Given the description of an element on the screen output the (x, y) to click on. 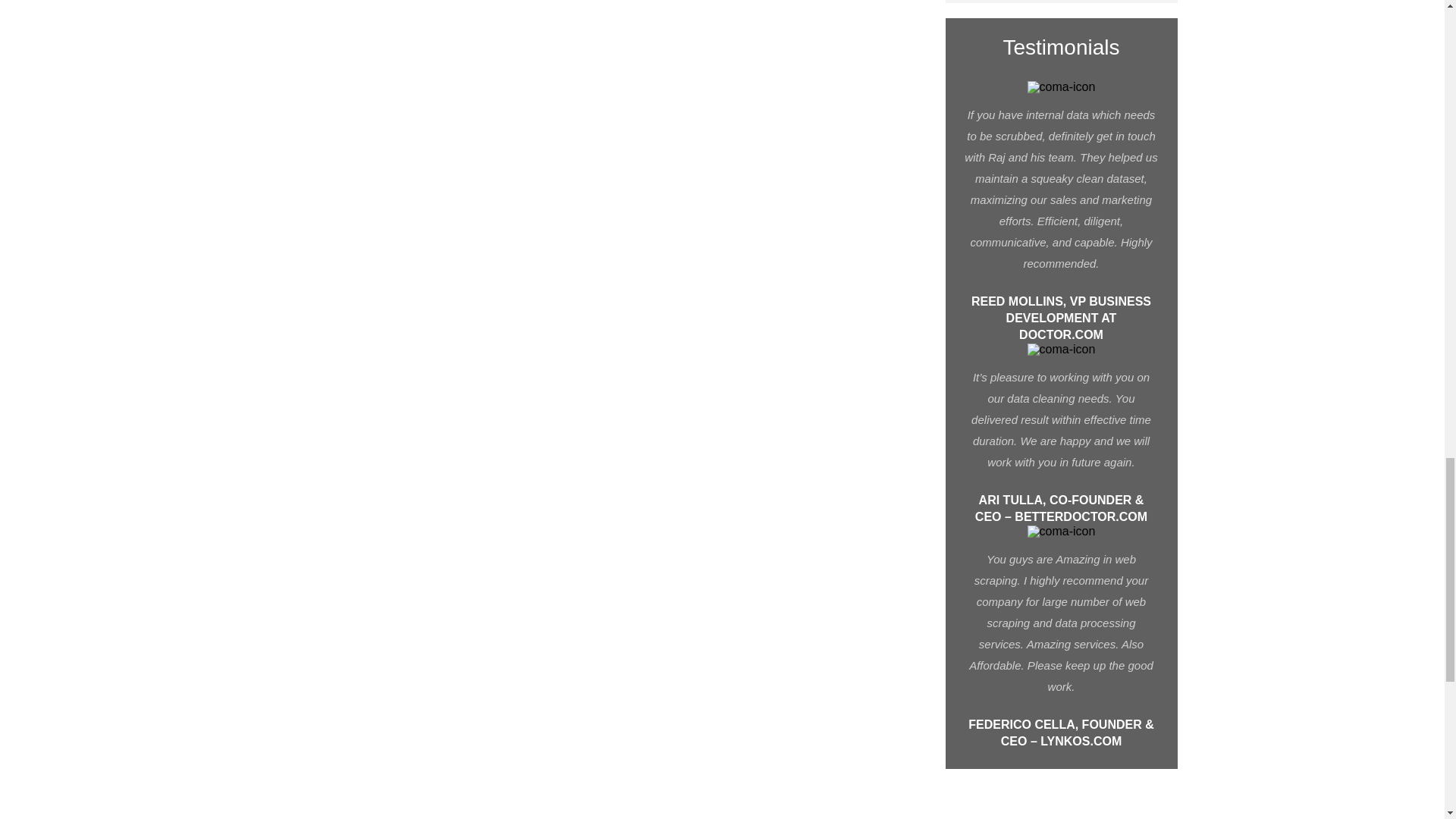
coma-icon (1061, 349)
coma-icon (1061, 531)
coma-icon (1061, 87)
